Given the description of an element on the screen output the (x, y) to click on. 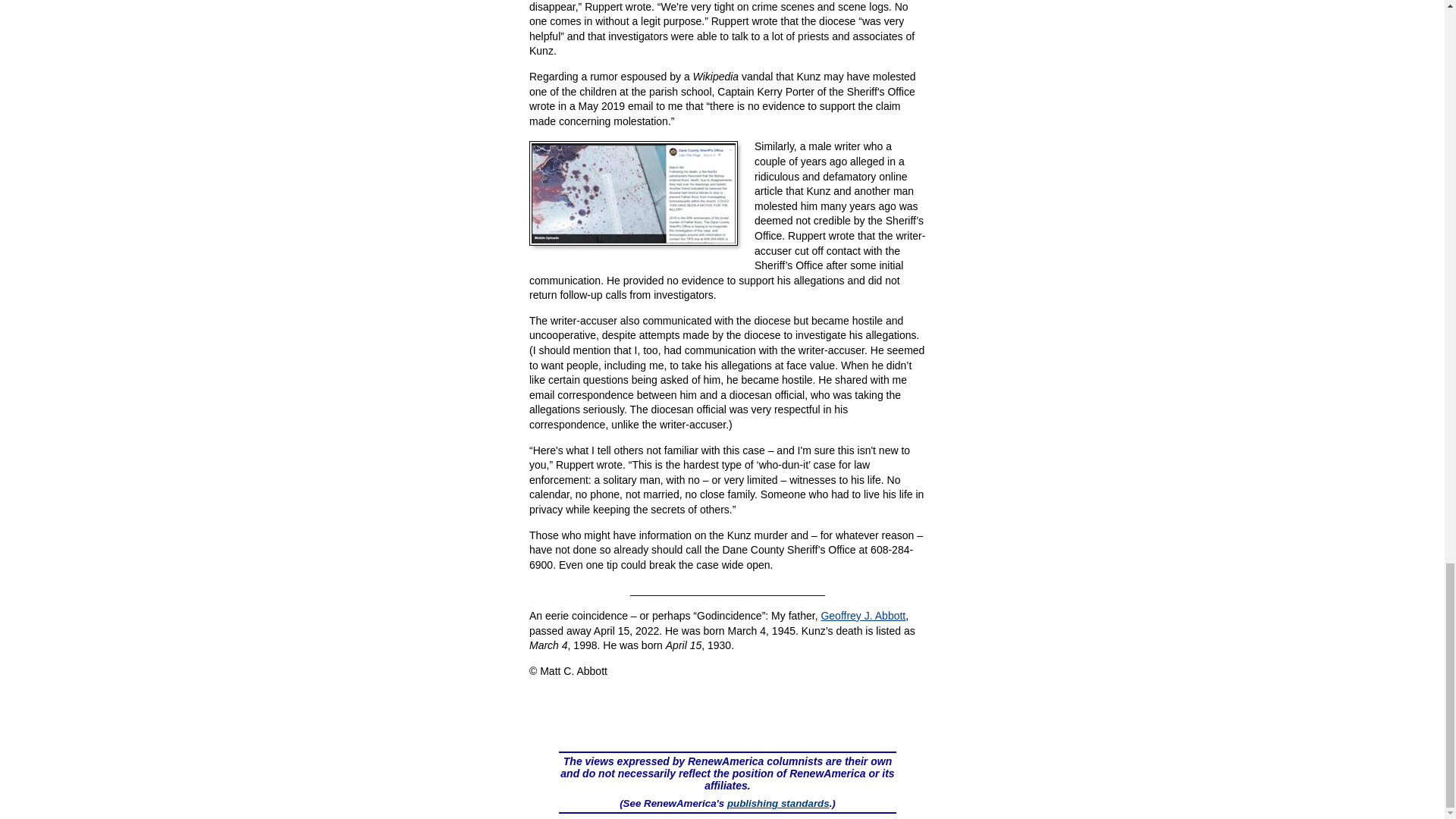
publishing standards (777, 803)
Geoffrey J. Abbott (863, 615)
